Given the description of an element on the screen output the (x, y) to click on. 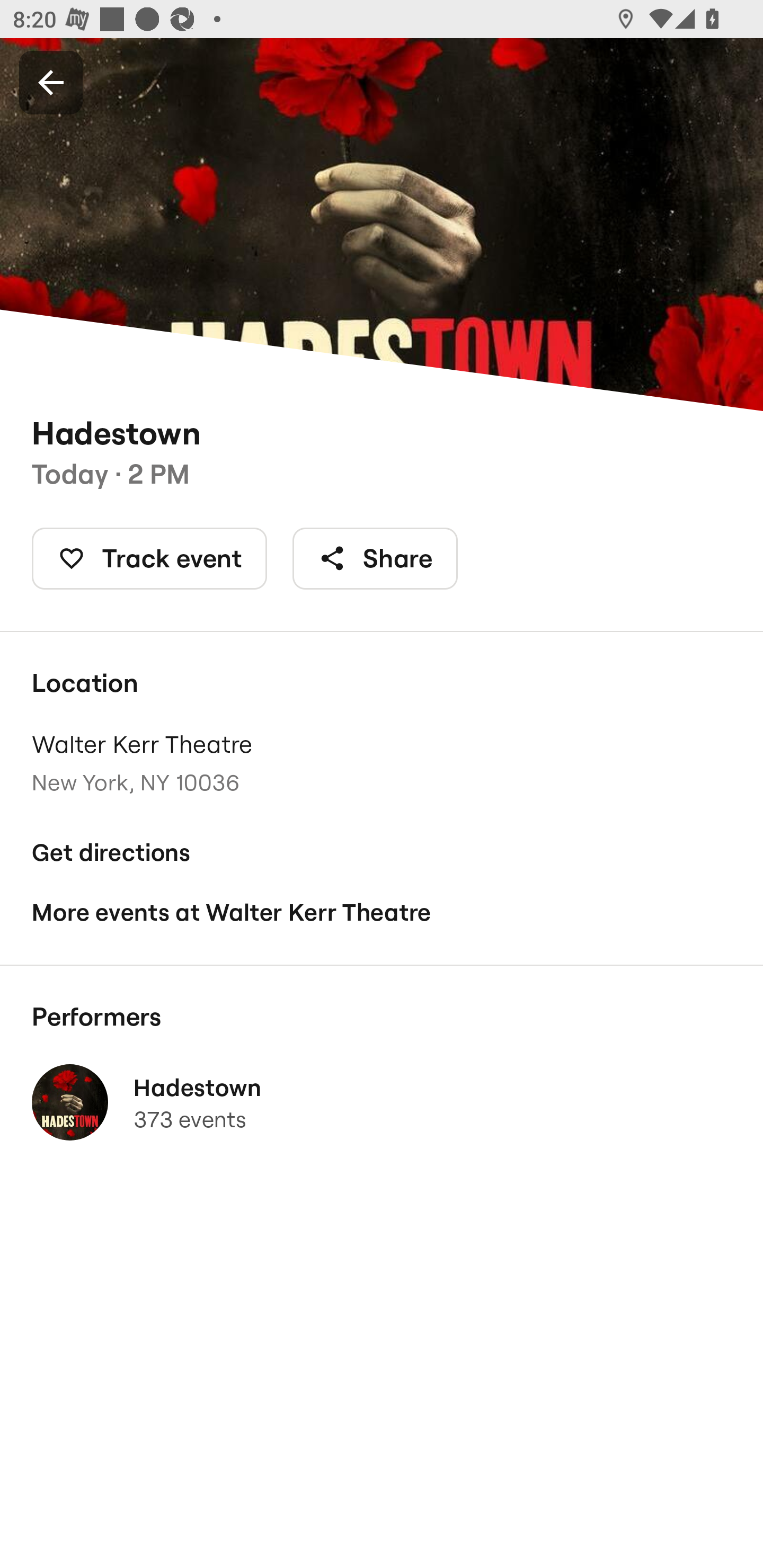
Back (50, 81)
Track event (149, 557)
Share (374, 557)
Get directions (381, 852)
More events at Walter Kerr Theatre (381, 912)
Hadestown 373 events (381, 1102)
